Given the description of an element on the screen output the (x, y) to click on. 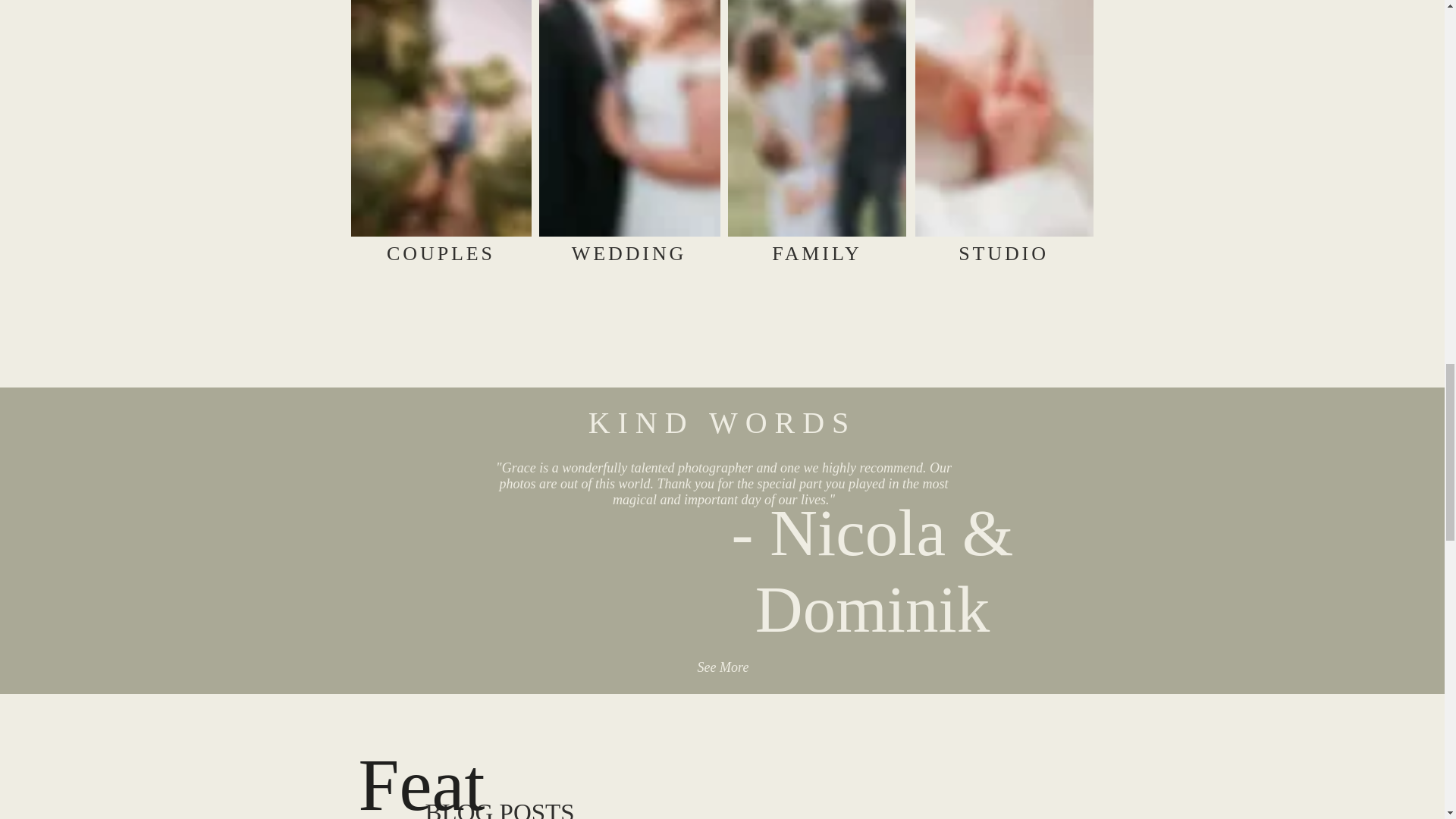
Weddings (944, 91)
WEDDING (629, 253)
See More (722, 667)
COUPLES (441, 253)
STUDIO (1003, 253)
FAMILY (816, 253)
